Given the description of an element on the screen output the (x, y) to click on. 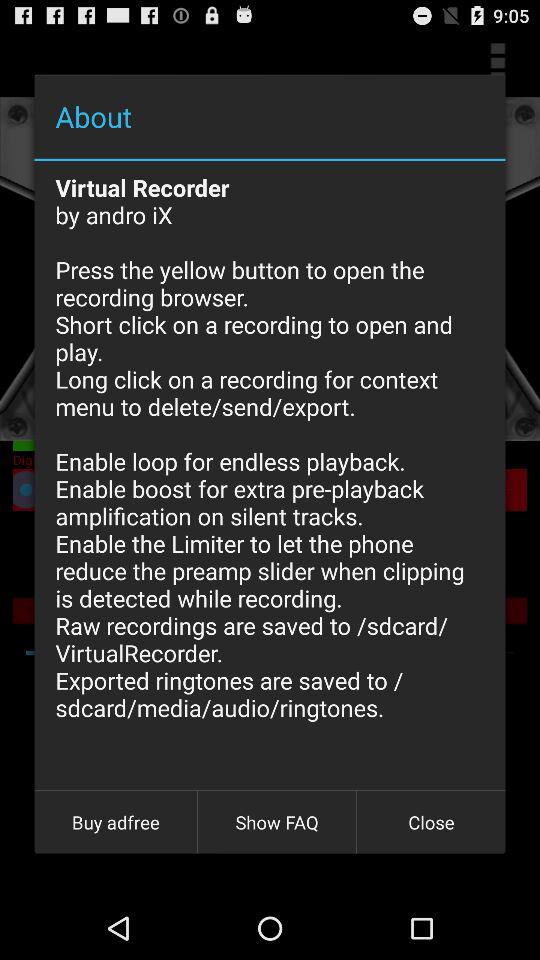
click show faq at the bottom (277, 821)
